Given the description of an element on the screen output the (x, y) to click on. 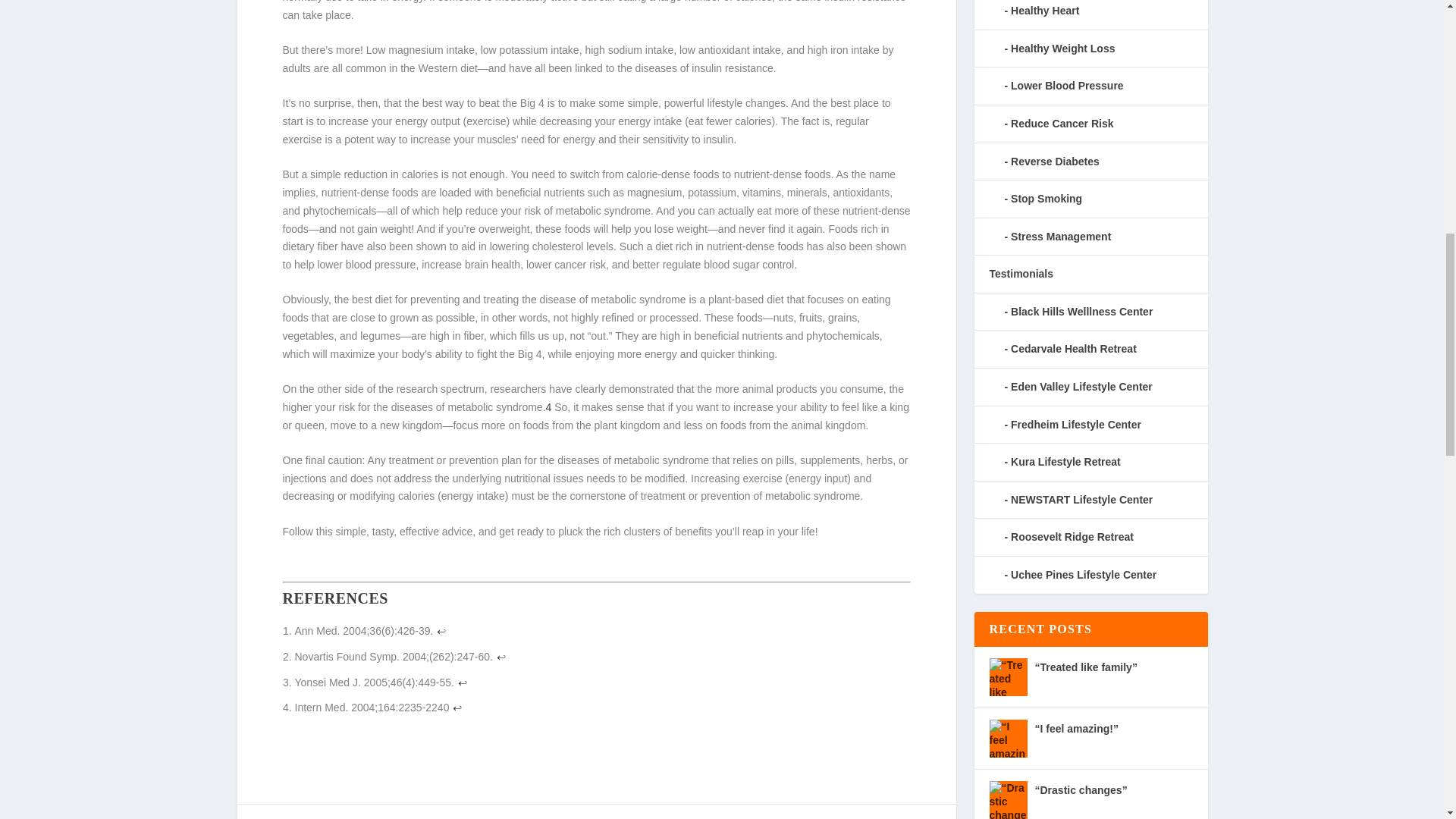
Share "Metabolic Syndrome: A Cluster of Trouble" via Buffer (645, 817)
Share "Metabolic Syndrome: A Cluster of Trouble" via Tumblr (555, 817)
Share "Metabolic Syndrome: A Cluster of Trouble" via Twitter (494, 817)
